Given the description of an element on the screen output the (x, y) to click on. 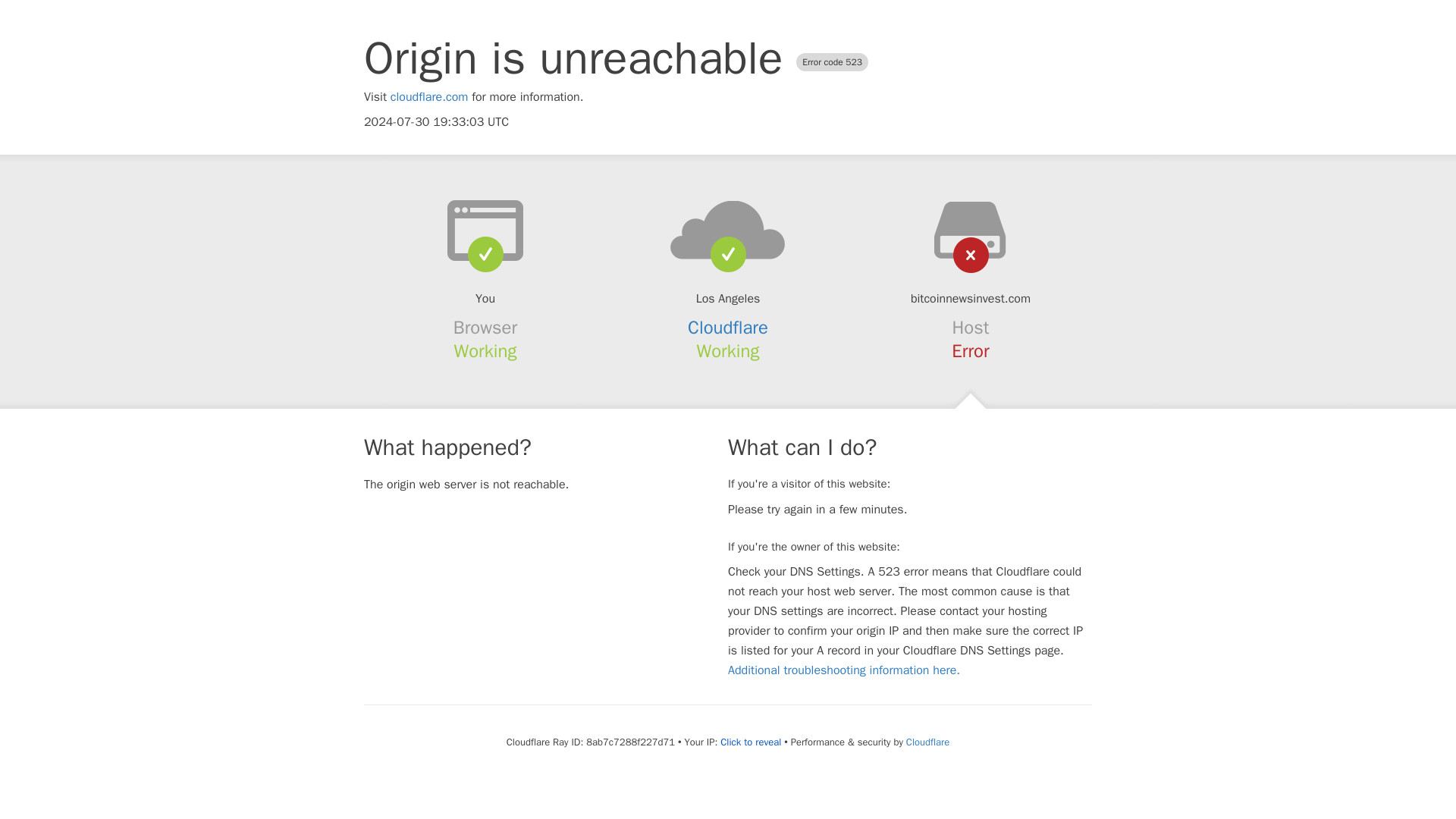
Cloudflare (927, 741)
cloudflare.com (429, 96)
Cloudflare (727, 327)
Click to reveal (750, 742)
Additional troubleshooting information here. (843, 670)
